Given the description of an element on the screen output the (x, y) to click on. 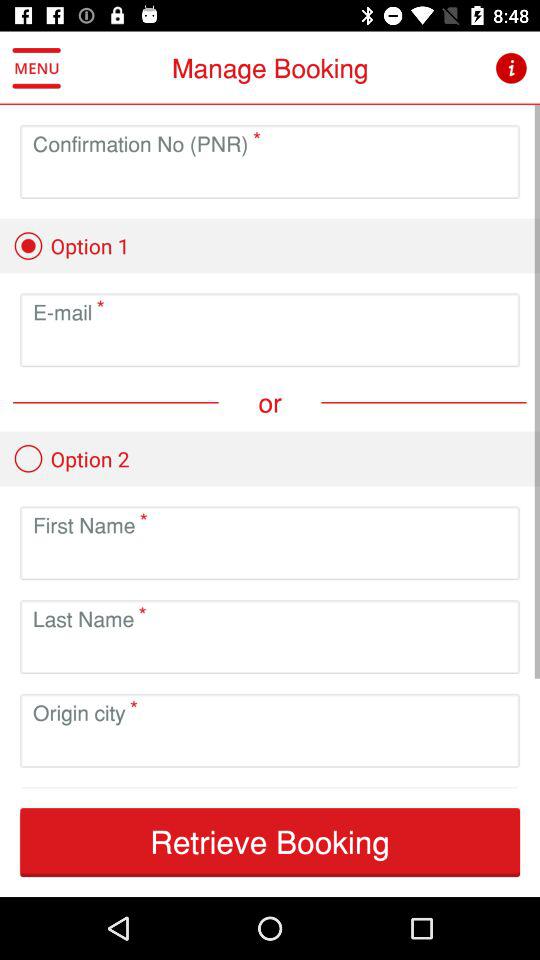
information (510, 67)
